Given the description of an element on the screen output the (x, y) to click on. 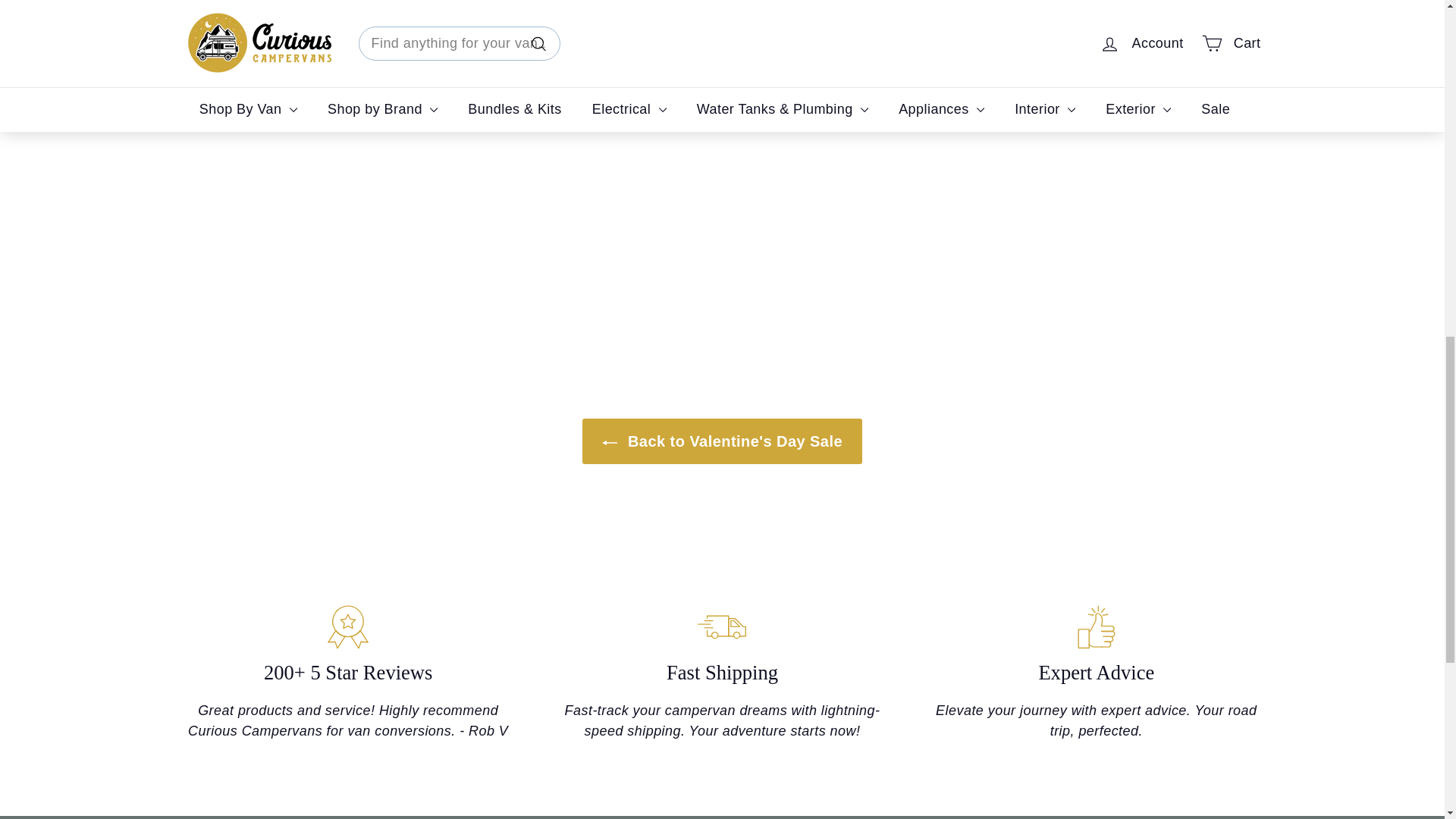
icon-left-arrow (609, 442)
